Given the description of an element on the screen output the (x, y) to click on. 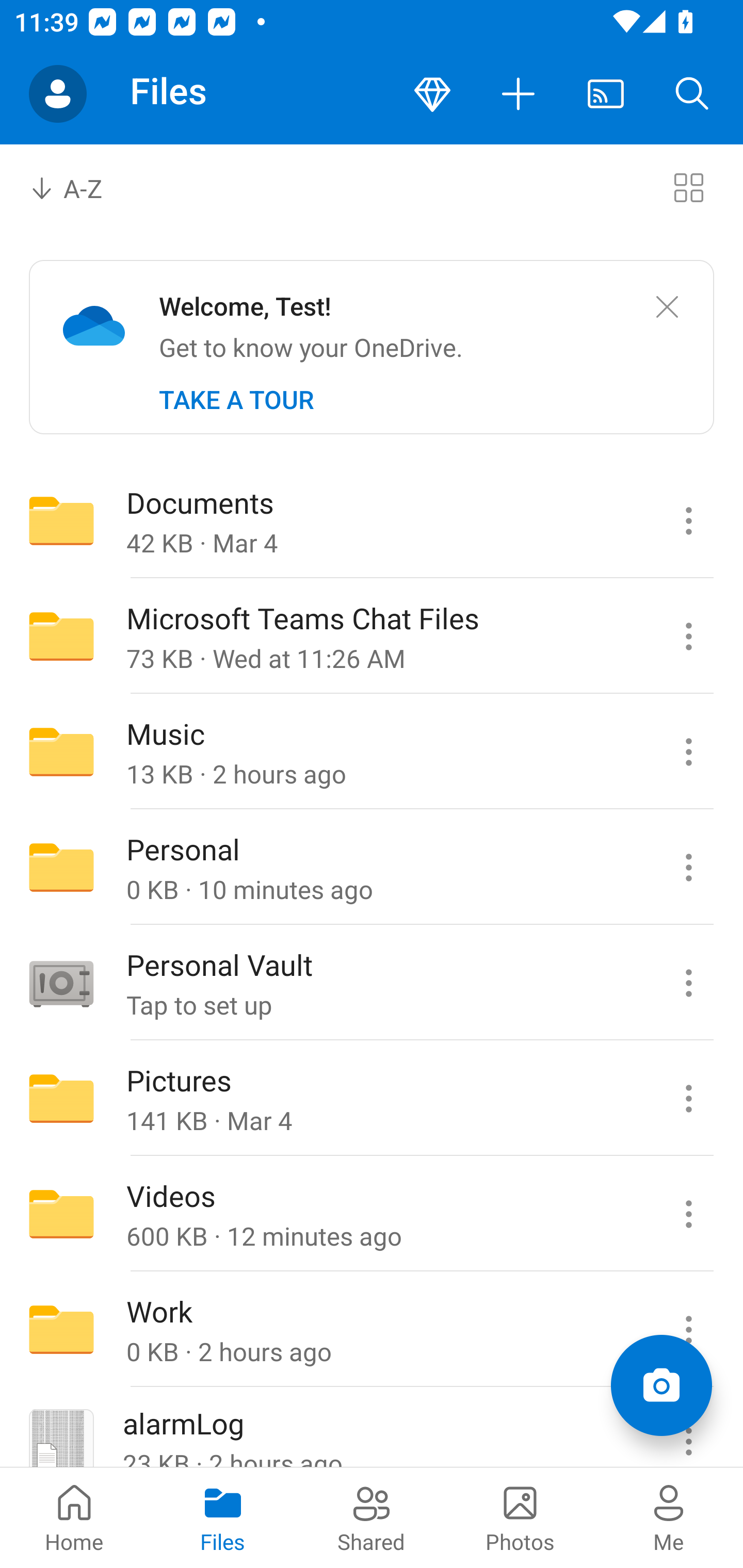
Account switcher (57, 93)
Cast. Disconnected (605, 93)
Premium button (432, 93)
More actions button (518, 93)
Search button (692, 93)
A-Z Sort by combo box, sort by name, A to Z (80, 187)
Switch to tiles view (688, 187)
Close (667, 307)
TAKE A TOUR (236, 399)
Folder Documents 42 KB · Mar 4 Documents commands (371, 520)
Documents commands (688, 520)
Microsoft Teams Chat Files commands (688, 636)
Folder Music 13 KB · 2 hours ago Music commands (371, 751)
Music commands (688, 751)
Personal commands (688, 867)
Personal Vault commands (688, 983)
Folder Pictures 141 KB · Mar 4 Pictures commands (371, 1099)
Pictures commands (688, 1099)
Videos commands (688, 1214)
Folder Work 0 KB · 2 hours ago Work commands (371, 1329)
Work commands (688, 1329)
Add items Scan (660, 1385)
alarmLog commands (688, 1427)
Home pivot Home (74, 1517)
Shared pivot Shared (371, 1517)
Photos pivot Photos (519, 1517)
Me pivot Me (668, 1517)
